Given the description of an element on the screen output the (x, y) to click on. 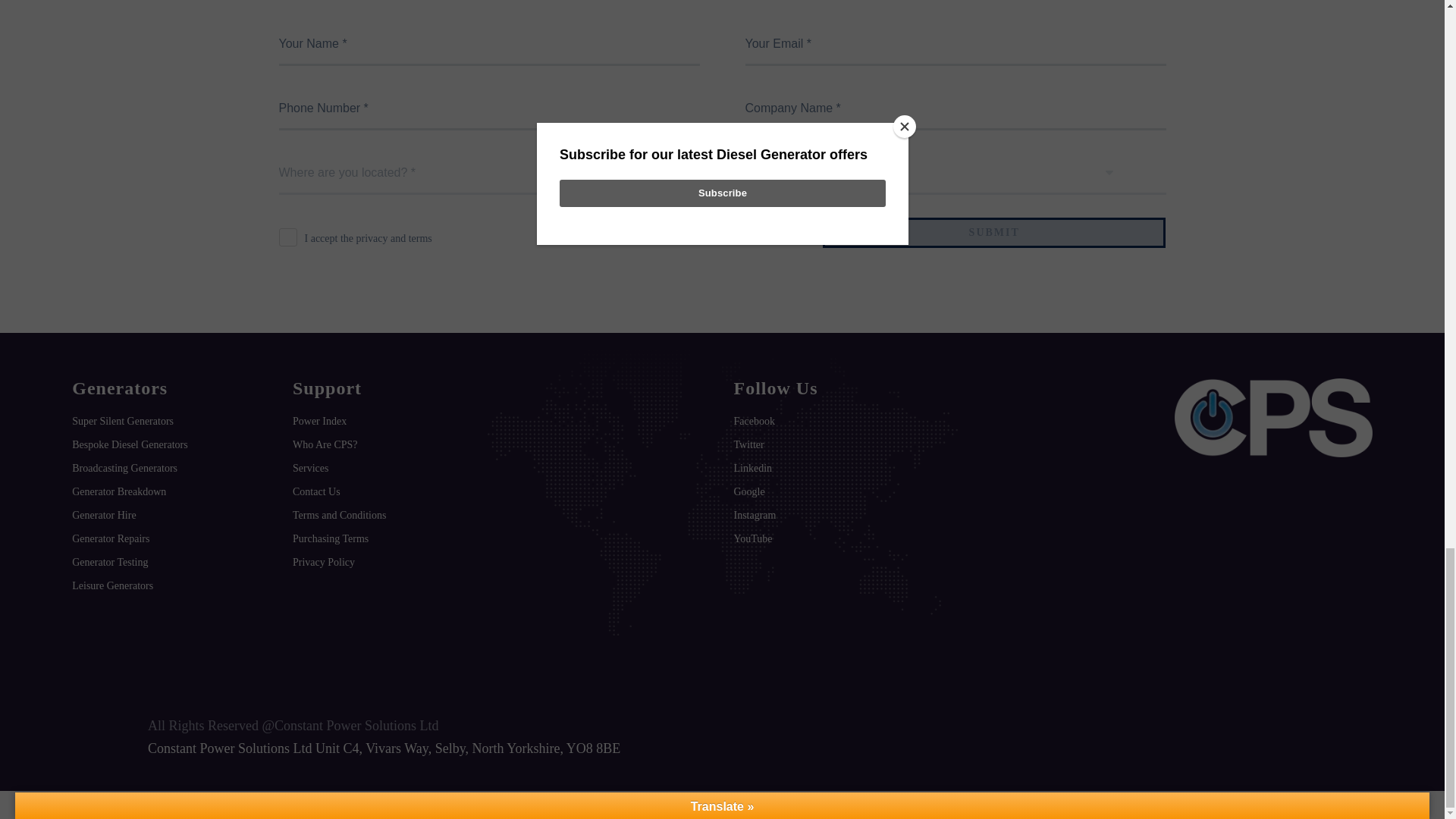
Submit (994, 232)
1 (288, 237)
